Given the description of an element on the screen output the (x, y) to click on. 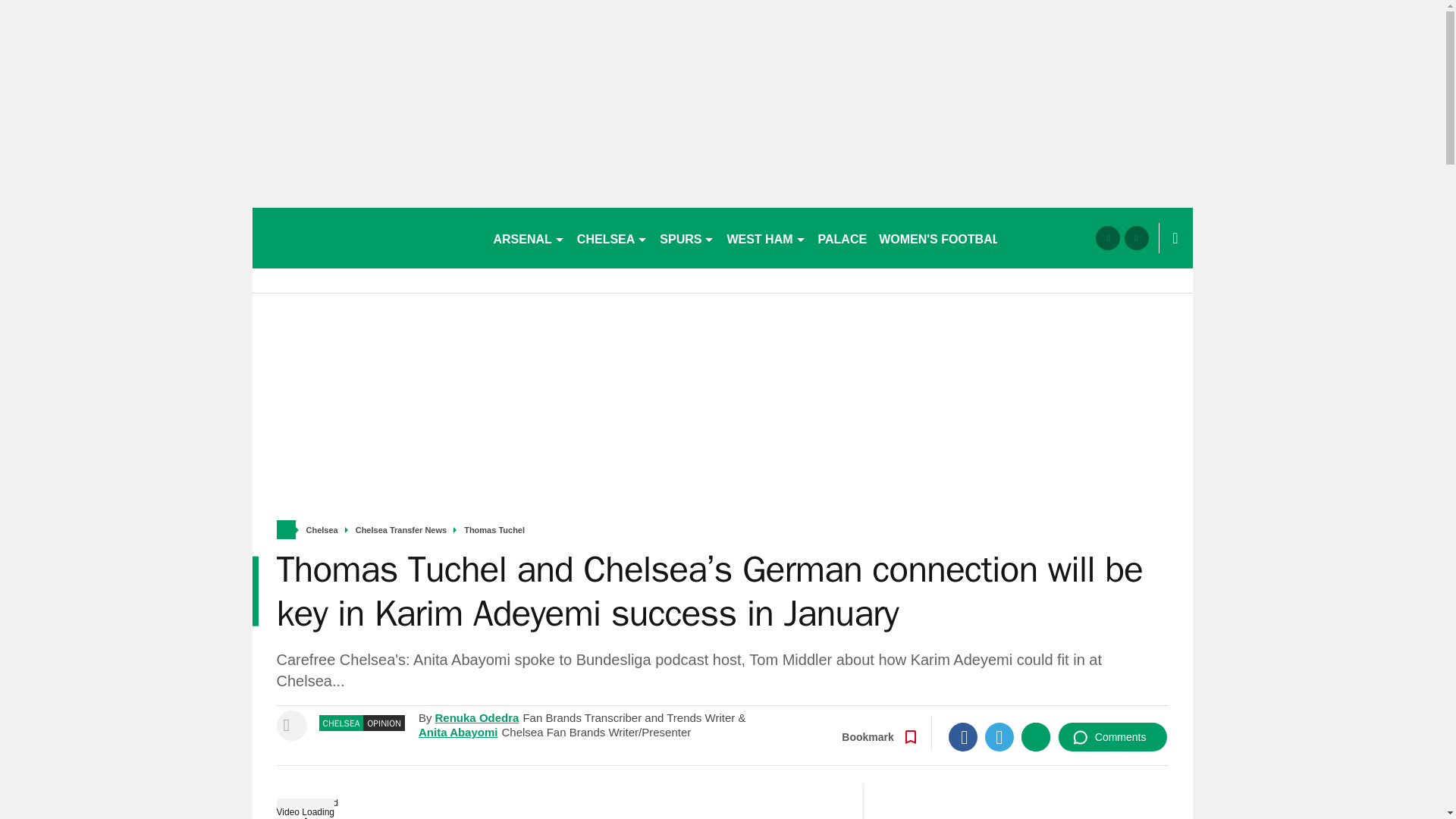
facebook (1106, 238)
Comments (1112, 736)
SPURS (686, 238)
Twitter (999, 736)
WOMEN'S FOOTBALL (942, 238)
WEST HAM (765, 238)
CHELSEA (611, 238)
twitter (1136, 238)
PALACE (842, 238)
Facebook (962, 736)
